Given the description of an element on the screen output the (x, y) to click on. 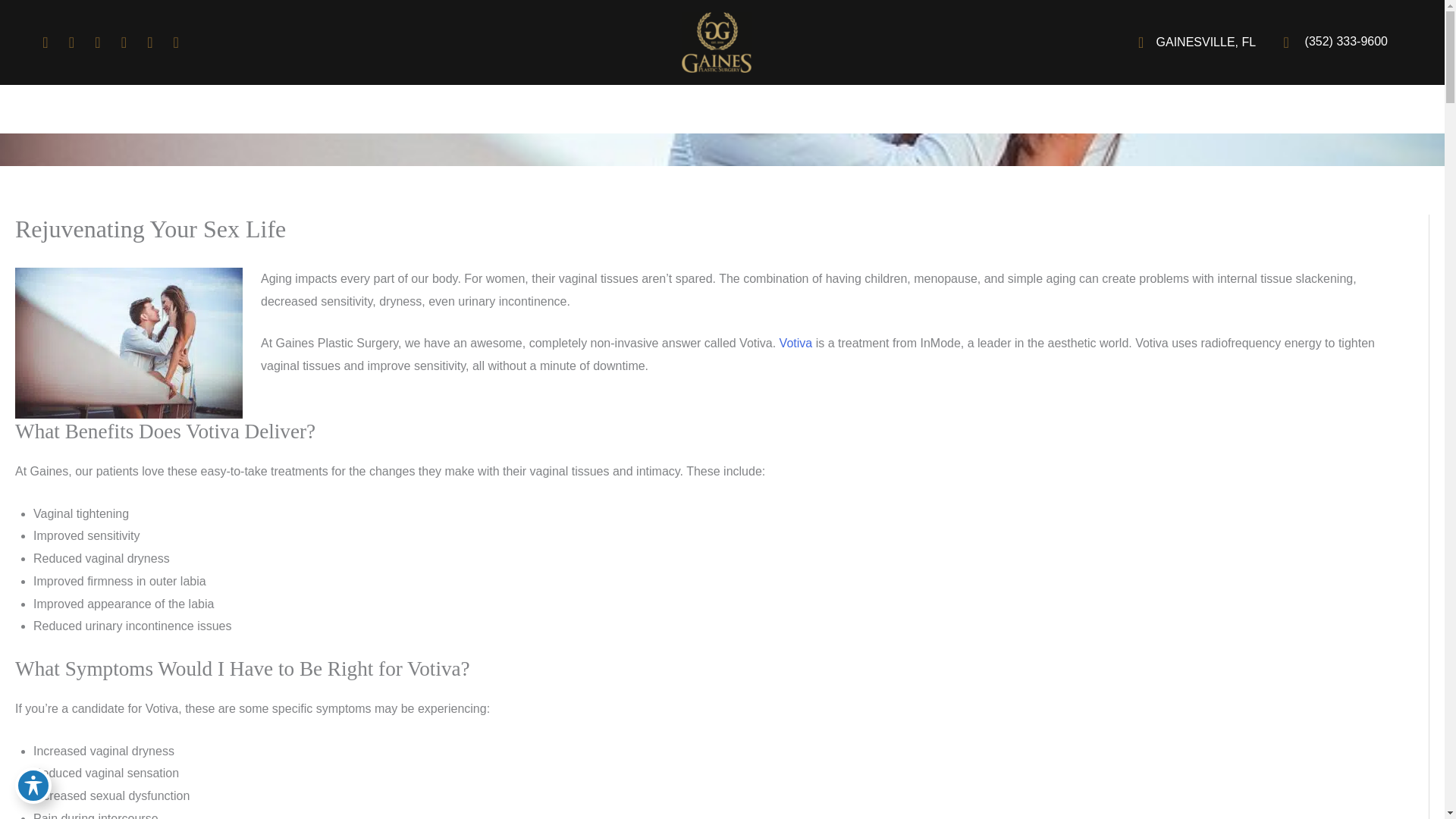
Procedures (590, 109)
About Us (509, 109)
GAINESVILLE, FL (1190, 42)
